Given the description of an element on the screen output the (x, y) to click on. 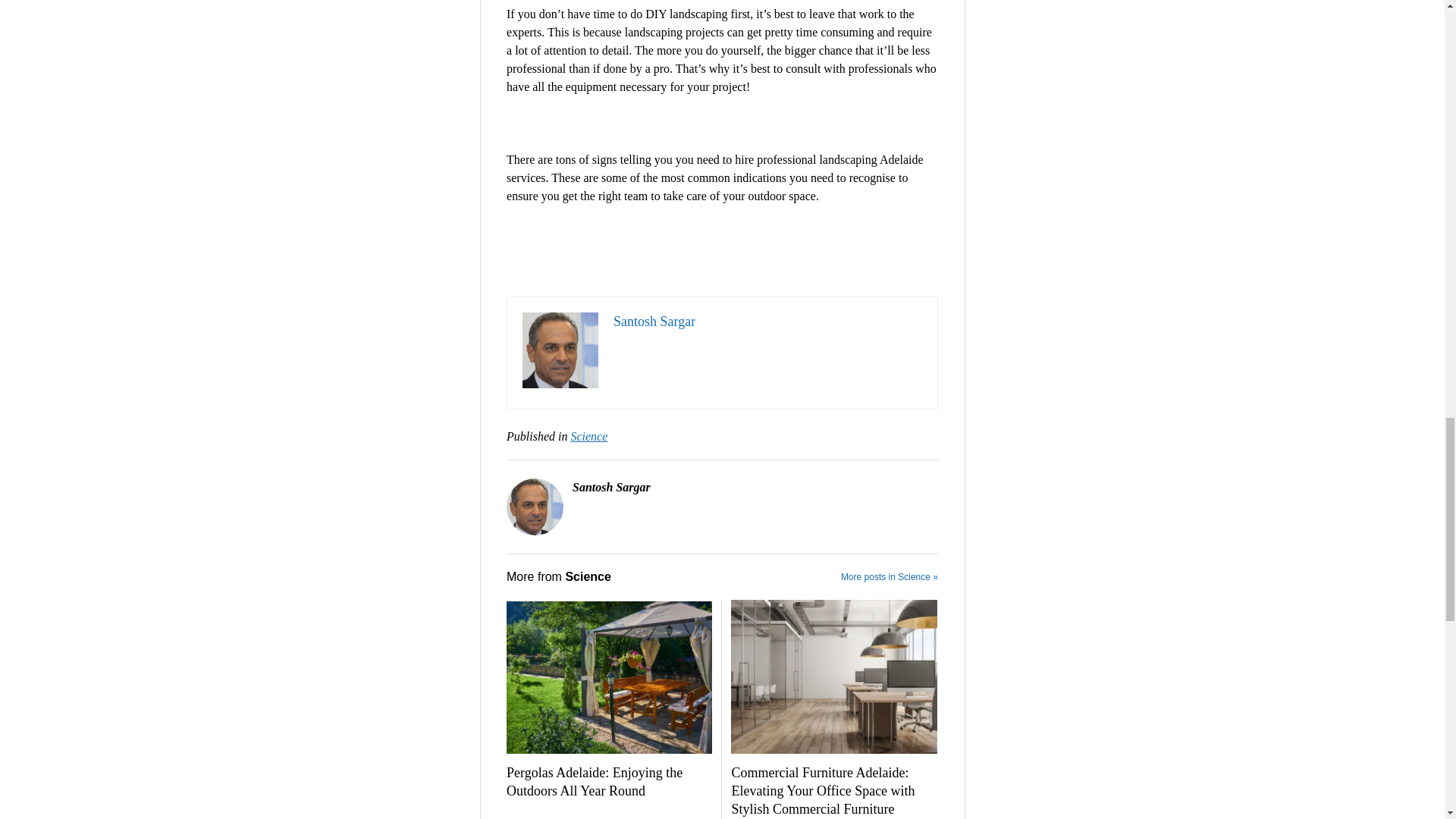
Pergolas Adelaide: Enjoying the Outdoors All Year Round (608, 782)
Science (588, 436)
Santosh Sargar (653, 321)
View all posts in Science (588, 436)
Adelaide pergolas (608, 676)
commercial furniture Adelaide (833, 676)
